Given the description of an element on the screen output the (x, y) to click on. 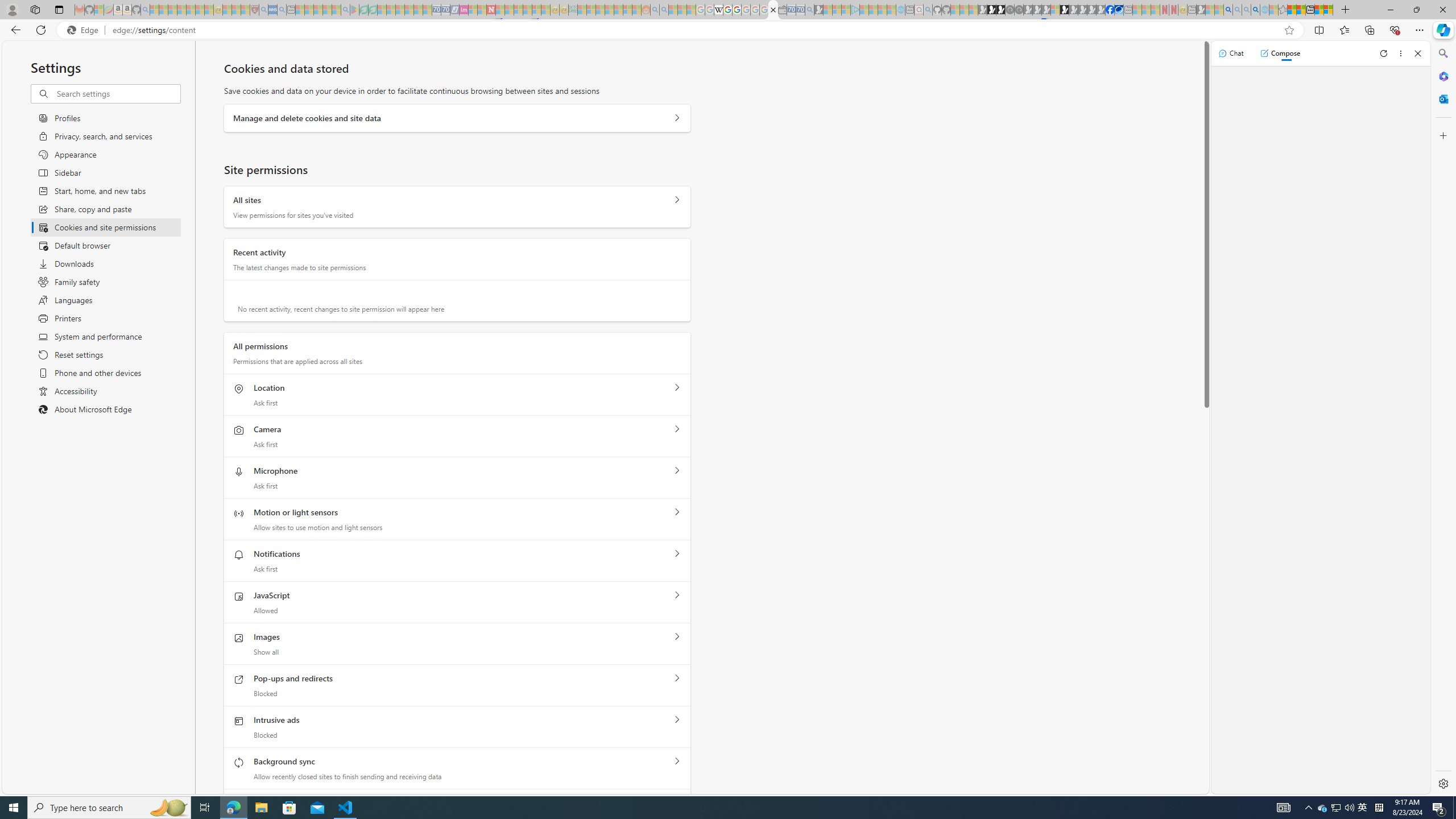
Manage and delete cookies and site data (676, 118)
Target page - Wikipedia (718, 9)
MSN - Sleeping (1200, 9)
Search settings (117, 93)
Home | Sky Blue Bikes - Sky Blue Bikes - Sleeping (900, 9)
JavaScript (676, 595)
AQI & Health | AirNow.gov (1118, 9)
